Given the description of an element on the screen output the (x, y) to click on. 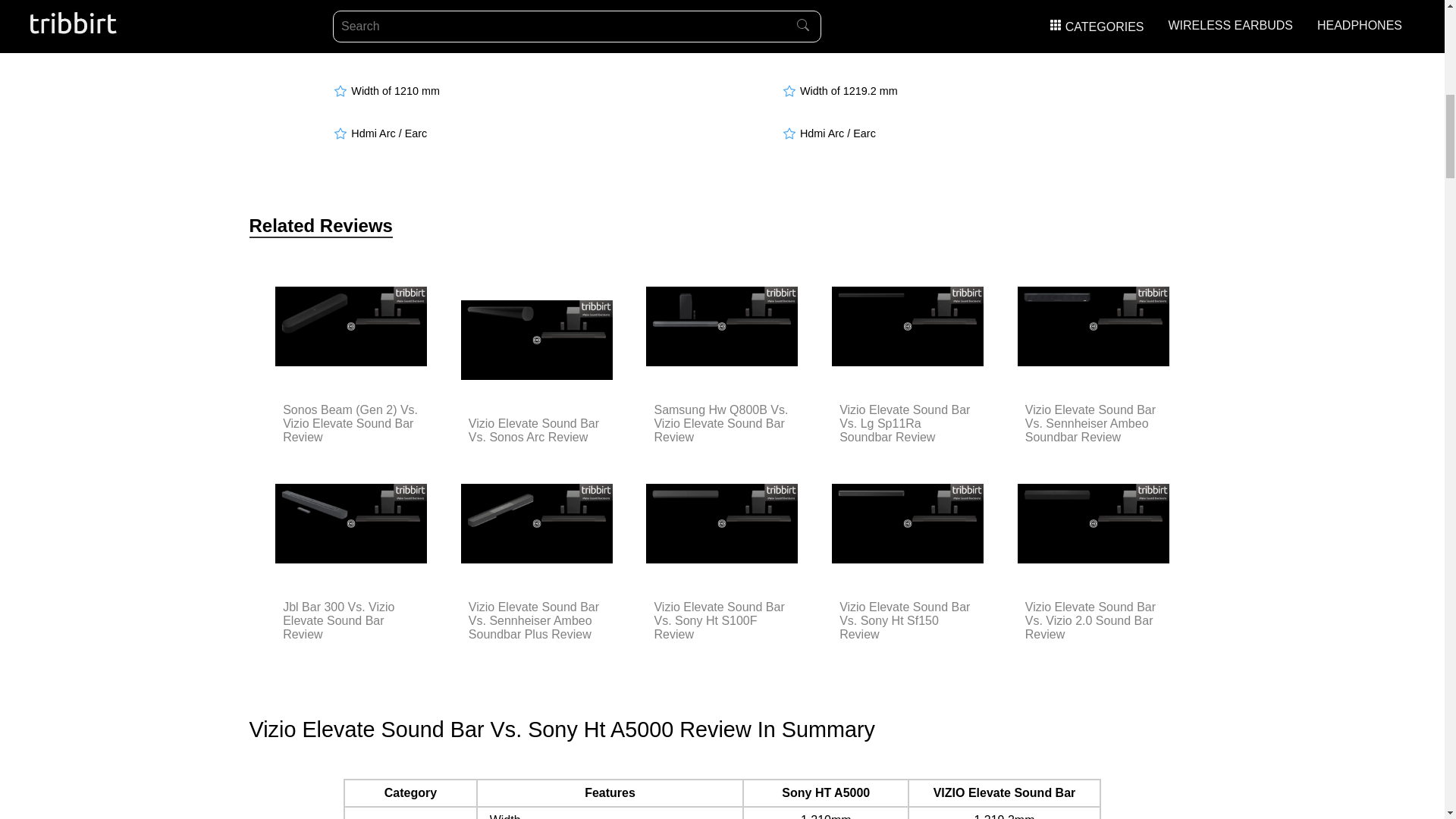
Vizio Elevate Sound Bar Vs. Sony Ht Sf150 Review (907, 620)
Samsung Hw Q800B Vs. Vizio Elevate Sound Bar Review (721, 423)
Vizio Elevate Sound Bar Vs. Sennheiser Ambeo Soundbar Review (1093, 423)
Vizio Elevate Sound Bar Vs. Sonos Arc Review (536, 430)
Jbl Bar 300 Vs. Vizio Elevate Sound Bar Review (350, 620)
Vizio Elevate Sound Bar Vs. Sony Ht S100F Review (721, 620)
Vizio Elevate Sound Bar Vs. Vizio 2.0 Sound Bar Review (1093, 620)
Vizio Elevate Sound Bar Vs. Lg Sp11Ra Soundbar Review (907, 423)
